Given the description of an element on the screen output the (x, y) to click on. 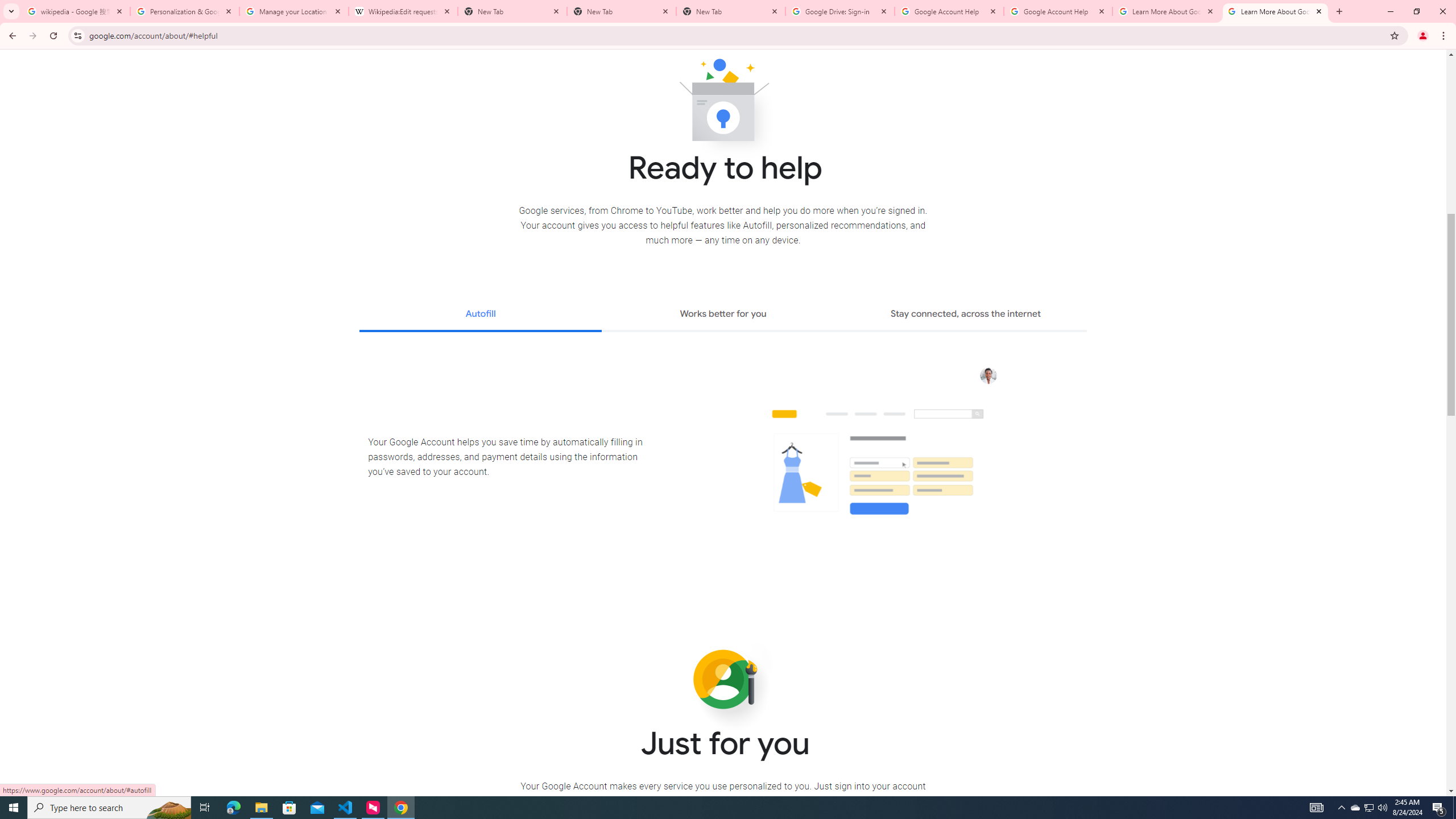
Works better for you (722, 315)
Just for you (722, 679)
Google Account Help (1058, 11)
Autofill (480, 315)
New Tab (730, 11)
Google Drive: Sign-in (839, 11)
Address and search bar (735, 35)
